Given the description of an element on the screen output the (x, y) to click on. 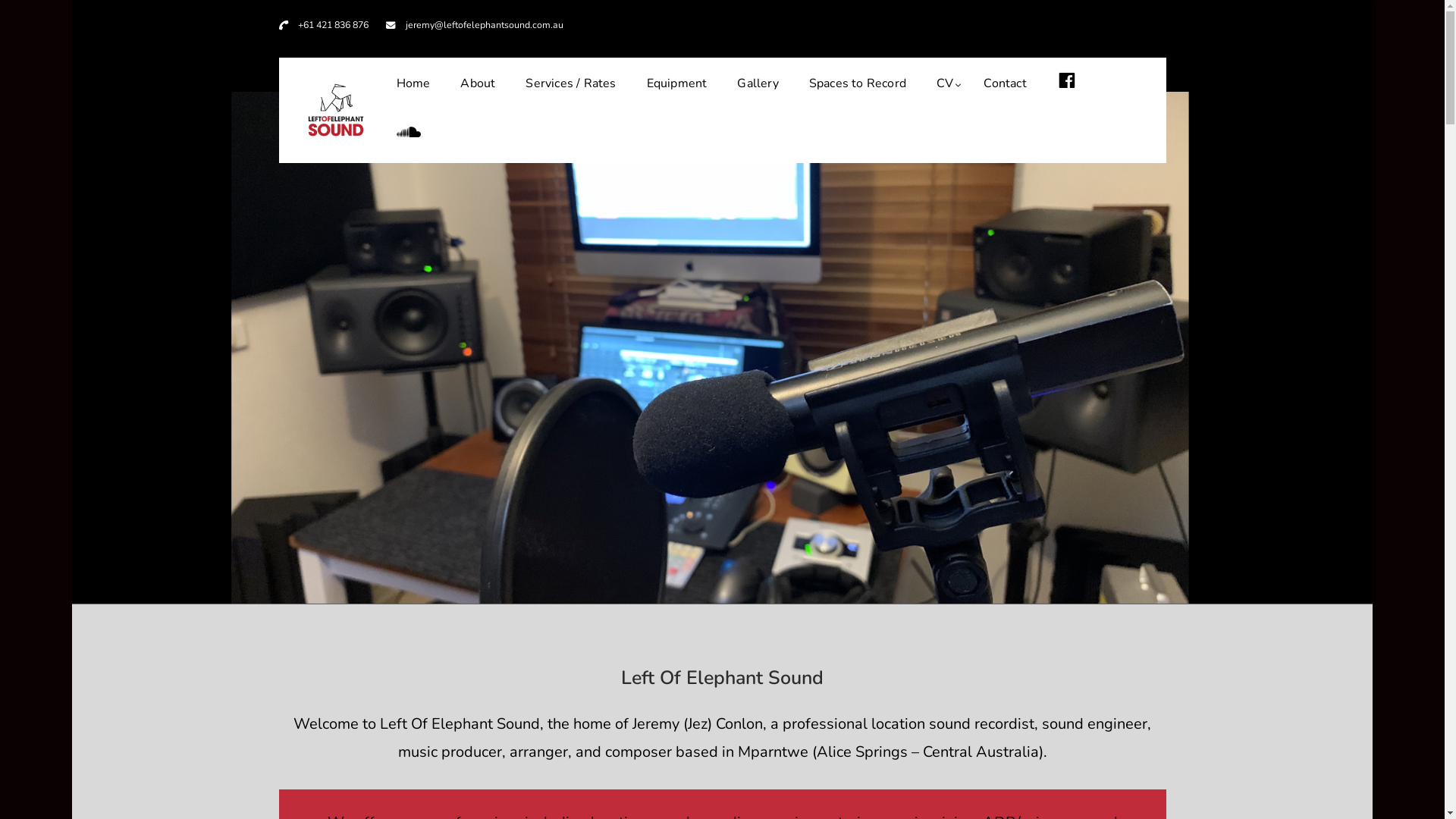
Soundcloud Element type: text (407, 136)
jeremy@leftofelephantsound.com.au Element type: text (484, 24)
Contact Element type: text (1004, 83)
Services / Rates Element type: text (570, 83)
CV Element type: text (944, 83)
+61 421 836 876 Element type: text (333, 24)
Left of Elephant Sound Element type: text (522, 126)
Home Element type: text (412, 83)
Gallery Element type: text (757, 83)
Spaces to Record Element type: text (857, 83)
Facebook Element type: text (1066, 83)
Equipment Element type: text (676, 83)
About Element type: text (477, 83)
